Given the description of an element on the screen output the (x, y) to click on. 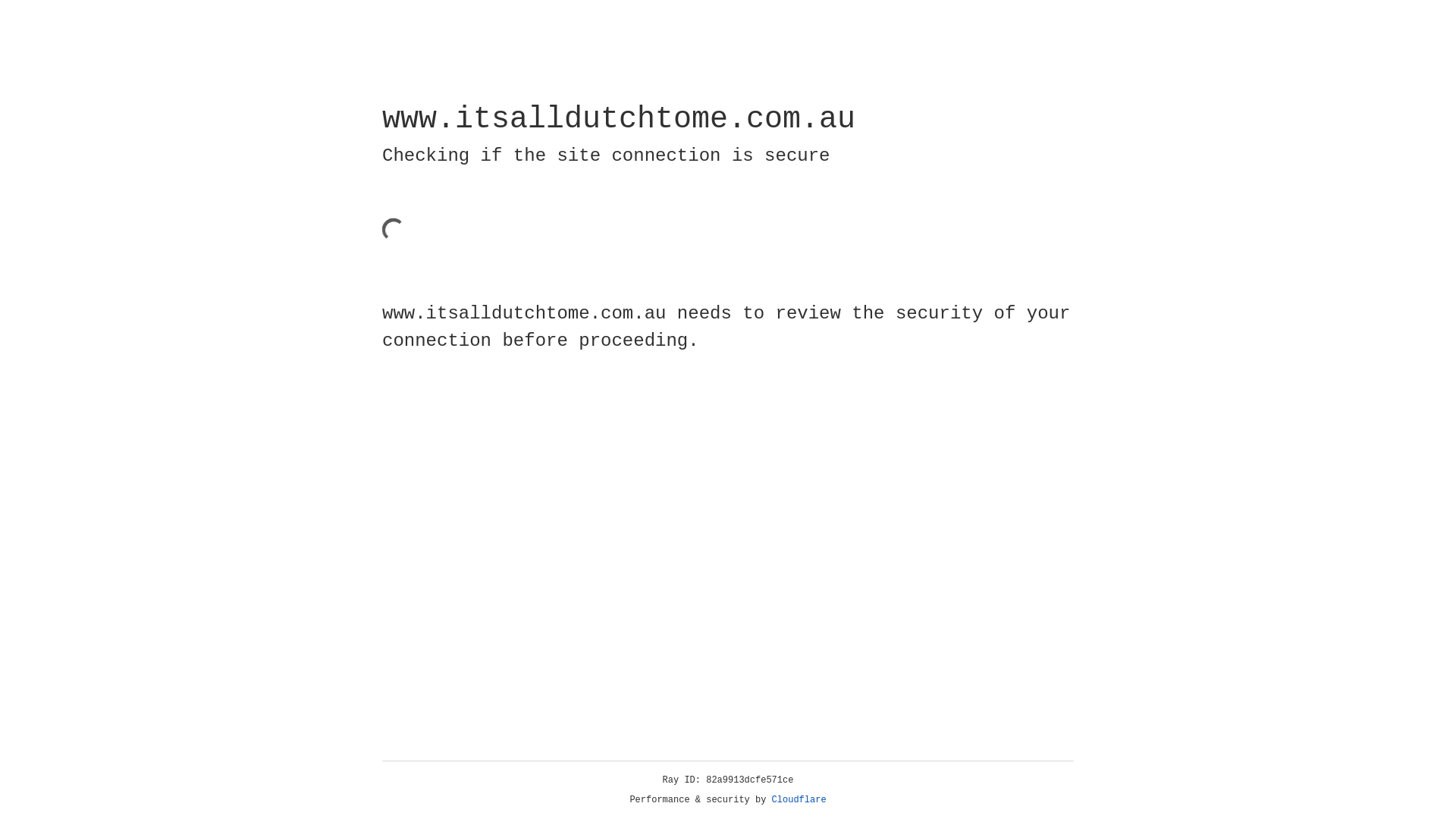
Cloudflare Element type: text (798, 799)
